Given the description of an element on the screen output the (x, y) to click on. 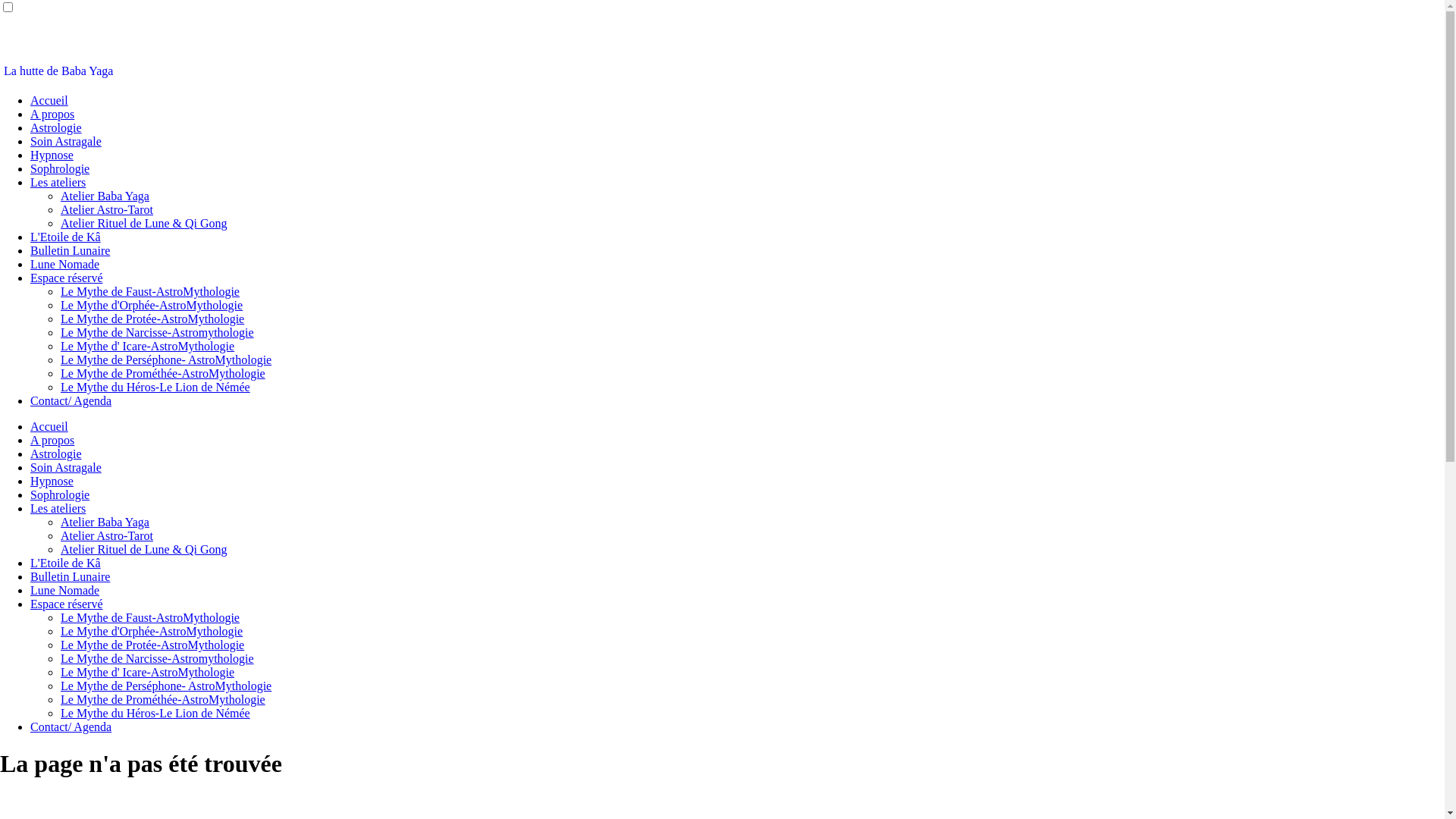
Accueil Element type: text (49, 426)
Bulletin Lunaire Element type: text (69, 576)
Les ateliers Element type: text (57, 508)
Contact/ Agenda Element type: text (70, 726)
Hypnose Element type: text (51, 154)
Le Mythe d' Icare-AstroMythologie Element type: text (147, 345)
Le Mythe de Faust-AstroMythologie Element type: text (149, 617)
Lune Nomade Element type: text (64, 263)
Atelier Baba Yaga Element type: text (104, 521)
Sophrologie Element type: text (59, 494)
Atelier Rituel de Lune & Qi Gong Element type: text (143, 548)
Soin Astragale Element type: text (65, 467)
Soin Astragale Element type: text (65, 140)
Atelier Baba Yaga Element type: text (104, 195)
Bulletin Lunaire Element type: text (69, 250)
A propos Element type: text (52, 113)
Atelier Astro-Tarot Element type: text (106, 209)
A propos Element type: text (52, 439)
Le Mythe de Faust-AstroMythologie Element type: text (149, 291)
Astrologie Element type: text (55, 127)
Accueil Element type: text (49, 100)
Lune Nomade Element type: text (64, 589)
Contact/ Agenda Element type: text (70, 400)
Le Mythe de Narcisse-Astromythologie Element type: text (157, 658)
Sophrologie Element type: text (59, 168)
Les ateliers Element type: text (57, 181)
Hypnose Element type: text (51, 480)
La hutte de Baba Yaga Element type: text (57, 70)
Atelier Rituel de Lune & Qi Gong Element type: text (143, 222)
Atelier Astro-Tarot Element type: text (106, 535)
Le Mythe d' Icare-AstroMythologie Element type: text (147, 671)
Le Mythe de Narcisse-Astromythologie Element type: text (157, 332)
Astrologie Element type: text (55, 453)
